Given the description of an element on the screen output the (x, y) to click on. 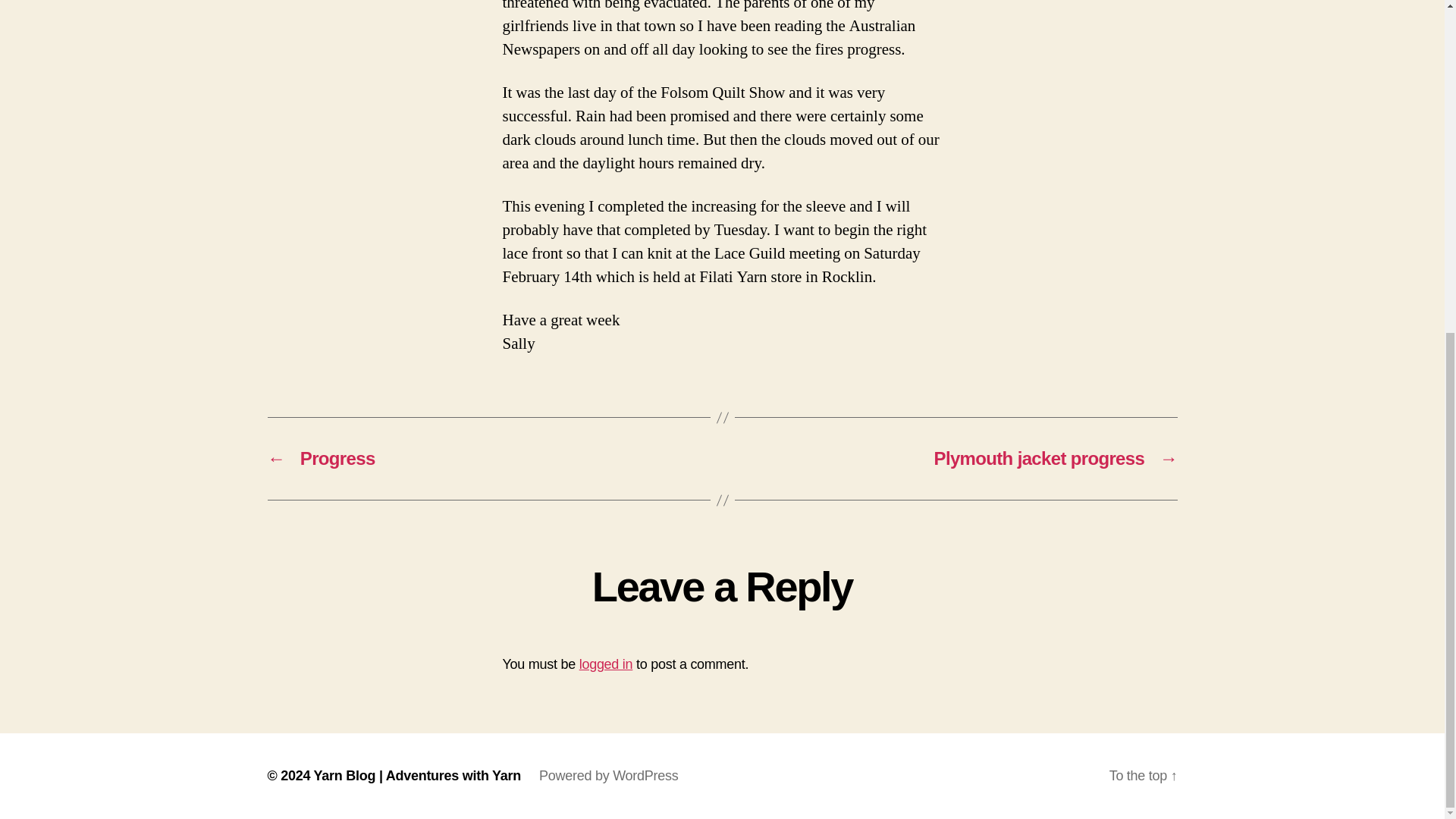
Powered by WordPress (608, 775)
logged in (606, 663)
